Given the description of an element on the screen output the (x, y) to click on. 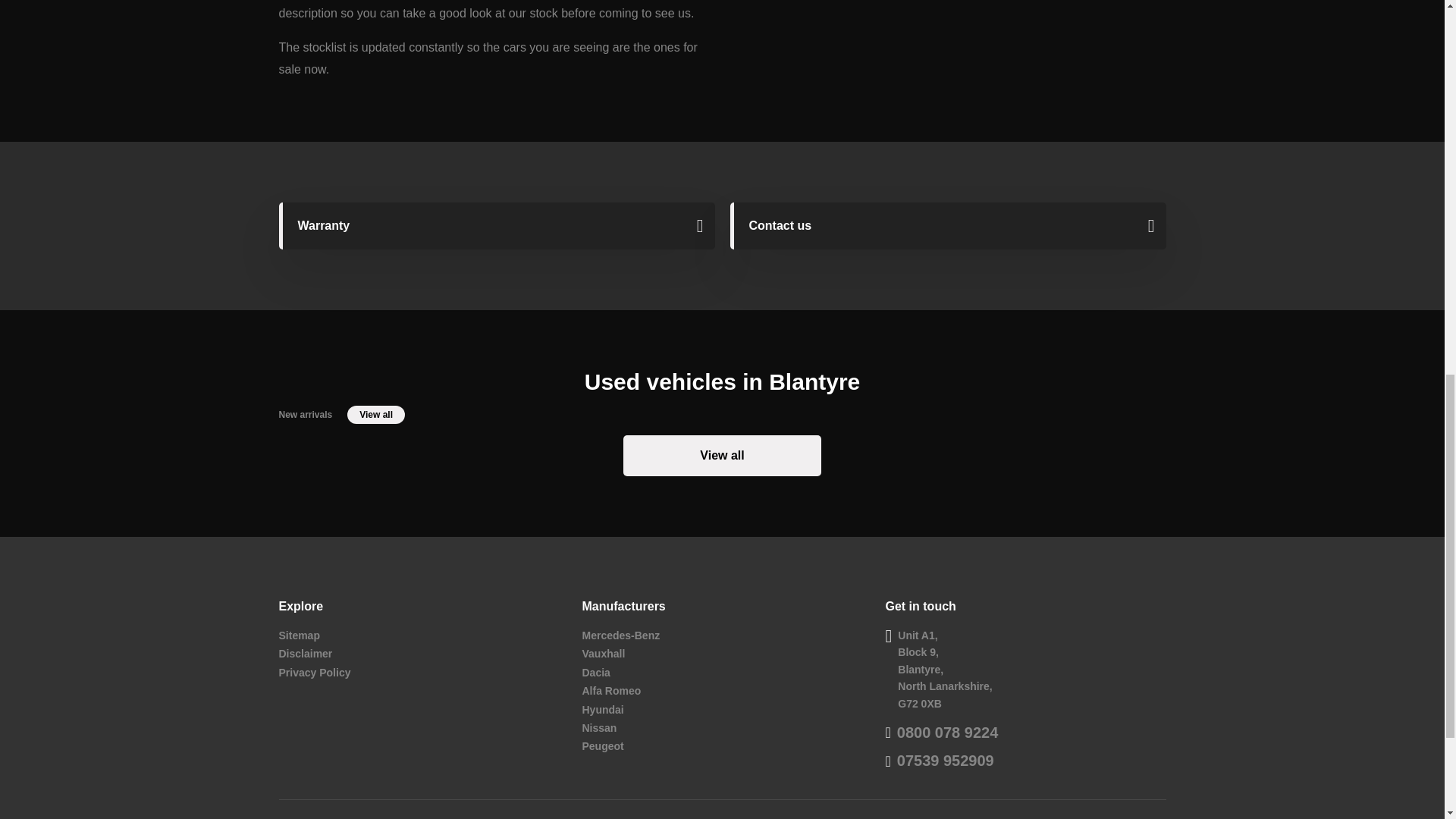
Contact us (947, 225)
View all (375, 414)
Warranty (496, 225)
